Given the description of an element on the screen output the (x, y) to click on. 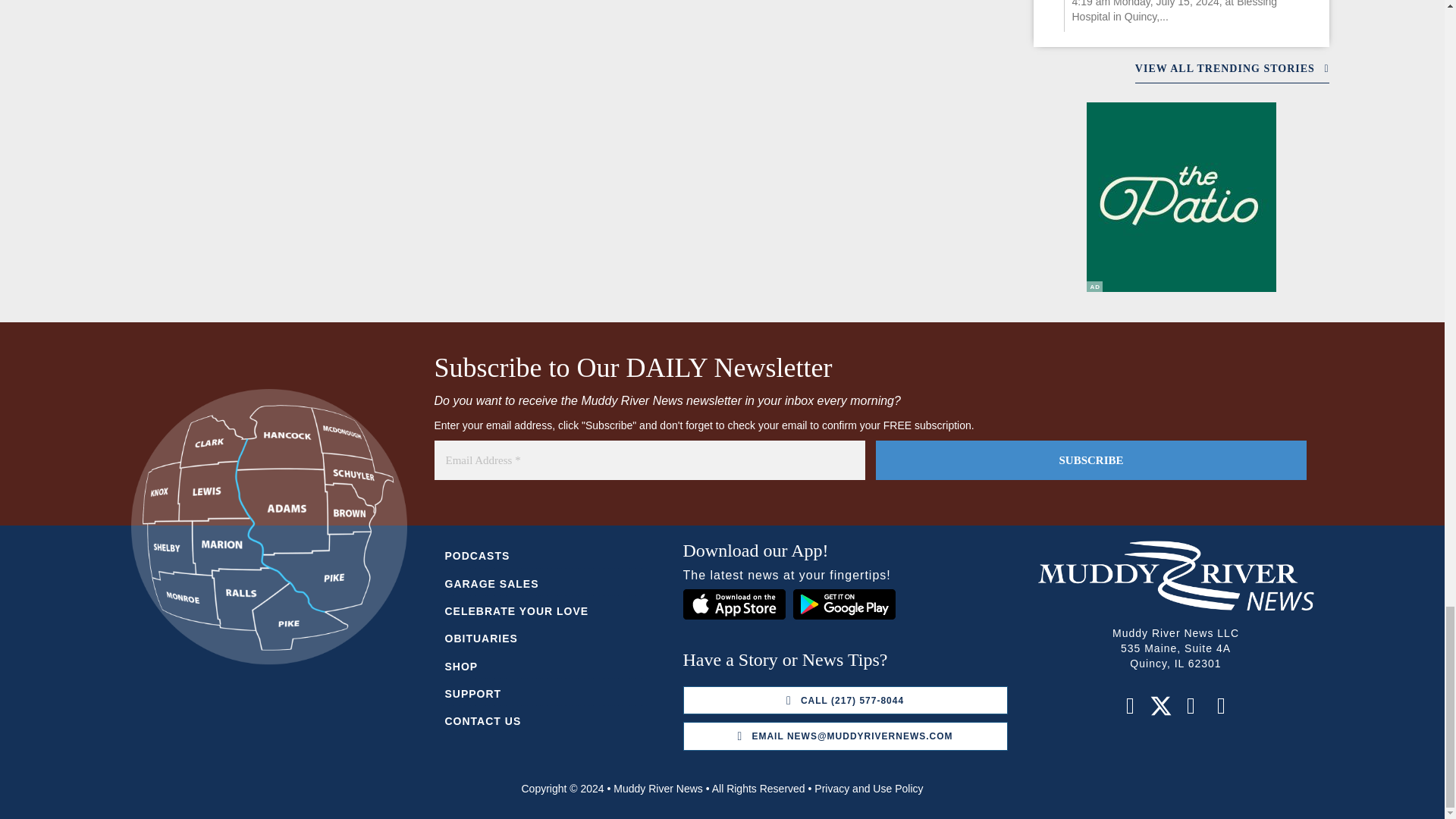
SUBSCRIBE (1091, 460)
